Given the description of an element on the screen output the (x, y) to click on. 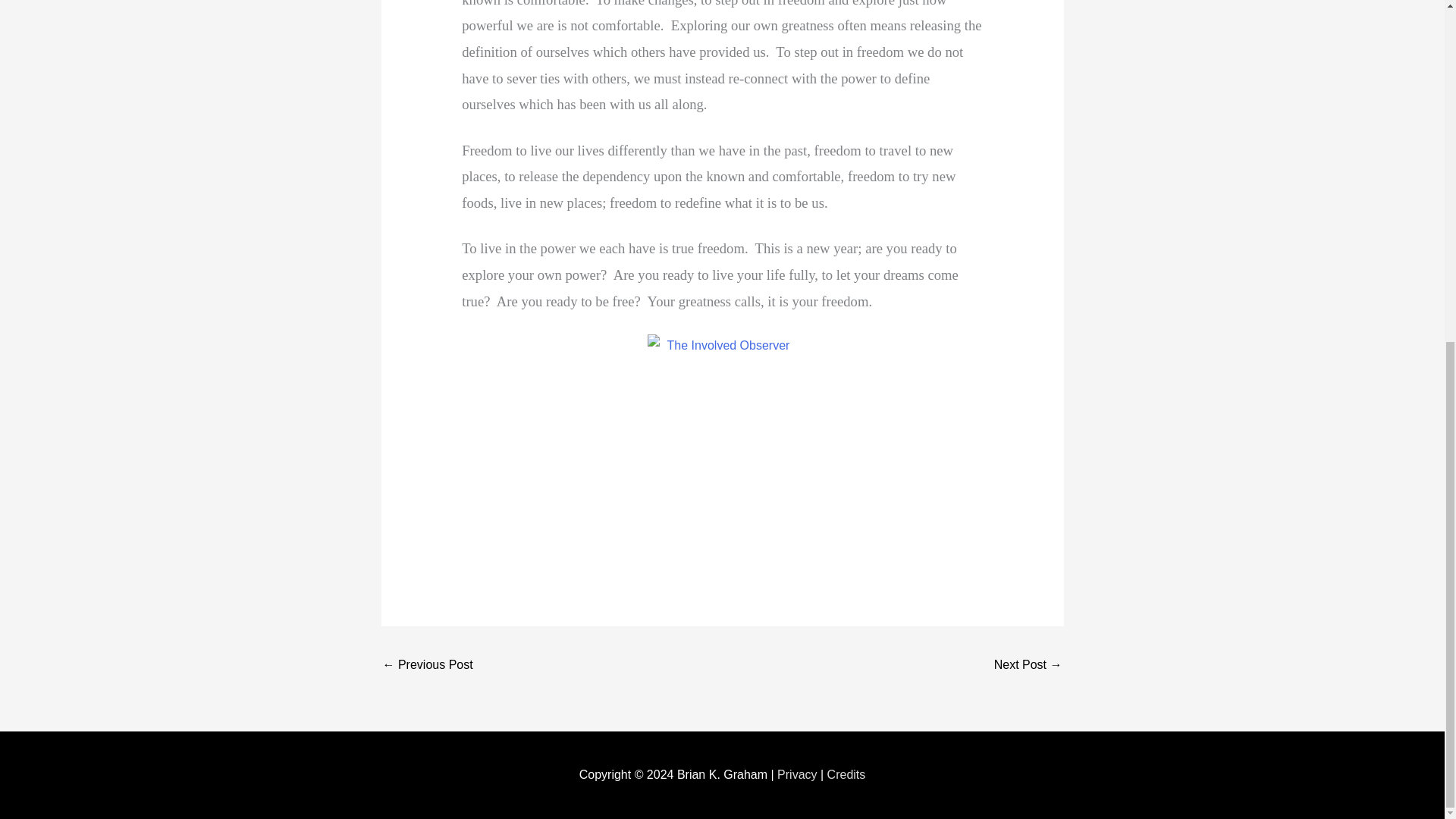
Privacy (796, 774)
Living small (1028, 665)
Happy New Year! (426, 665)
Credits (846, 774)
